Given the description of an element on the screen output the (x, y) to click on. 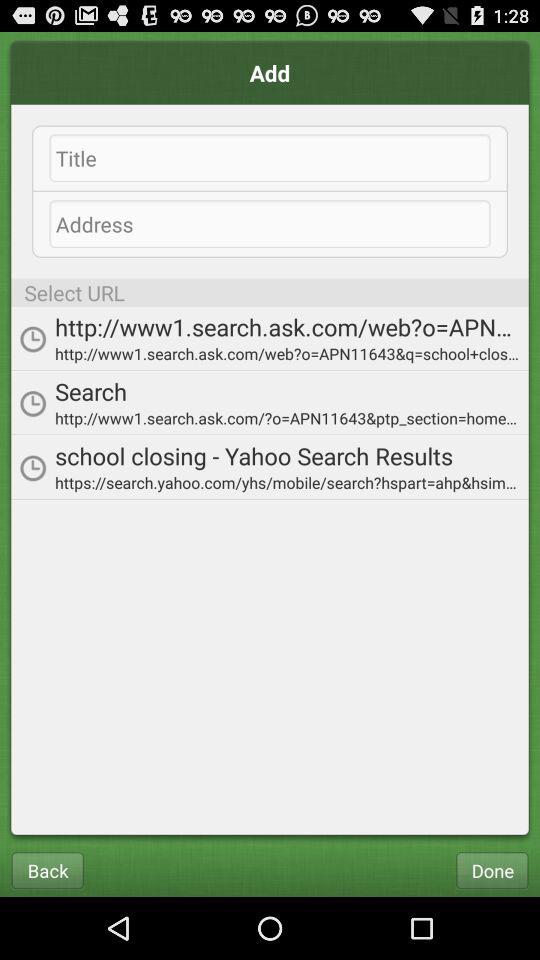
swipe until back icon (47, 870)
